Given the description of an element on the screen output the (x, y) to click on. 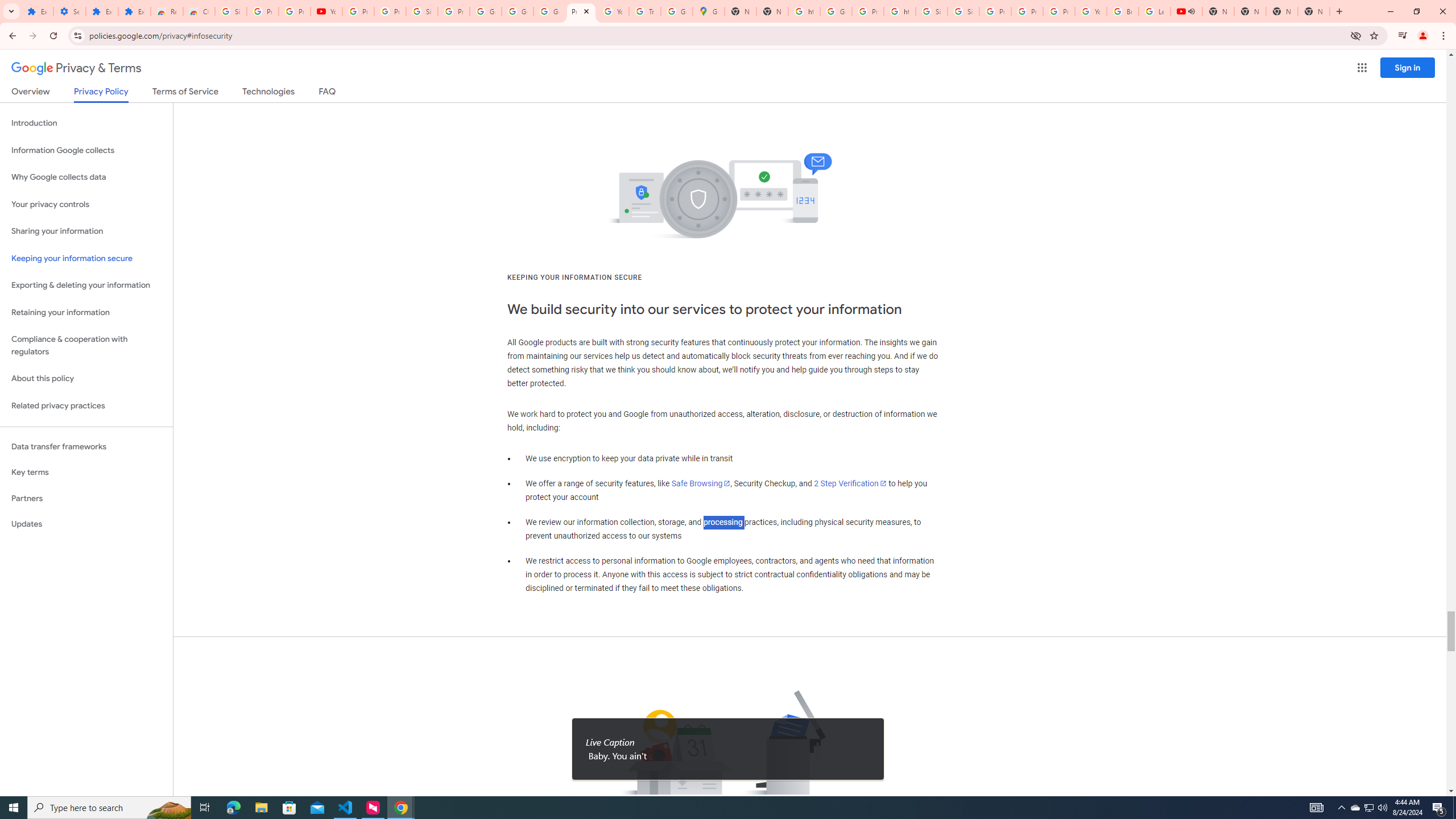
Extensions (37, 11)
Introduction (86, 122)
Privacy Help Center - Policies Help (995, 11)
Google Account (485, 11)
Third-party cookies blocked (1355, 35)
Technologies (268, 93)
Privacy Help Center - Policies Help (1027, 11)
Sign in - Google Accounts (230, 11)
Key terms (86, 472)
YouTube (613, 11)
